Given the description of an element on the screen output the (x, y) to click on. 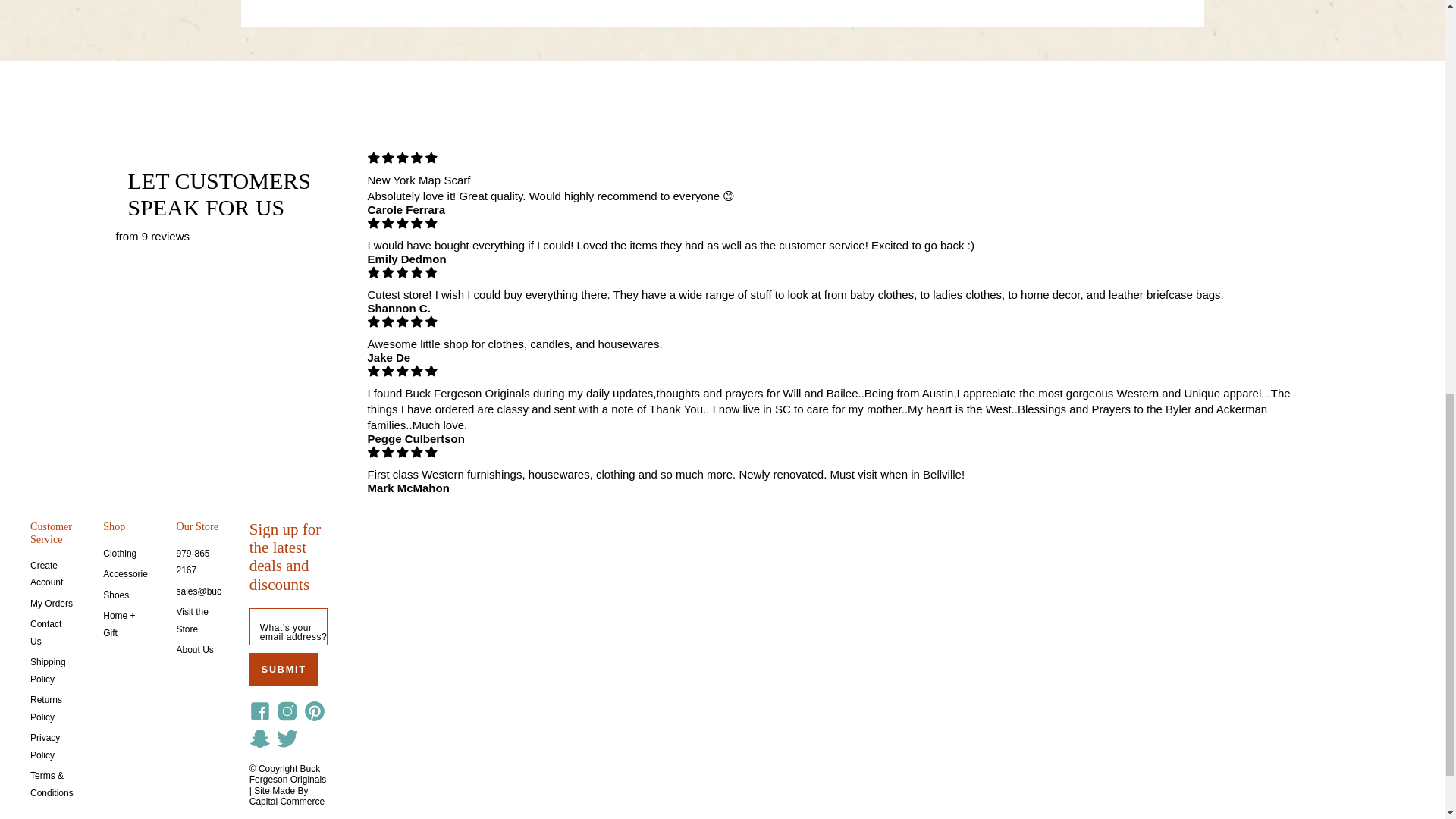
Pinterest (315, 710)
Facebook (259, 710)
Snapchat (259, 738)
Instagram (287, 710)
Twitter (287, 738)
